Given the description of an element on the screen output the (x, y) to click on. 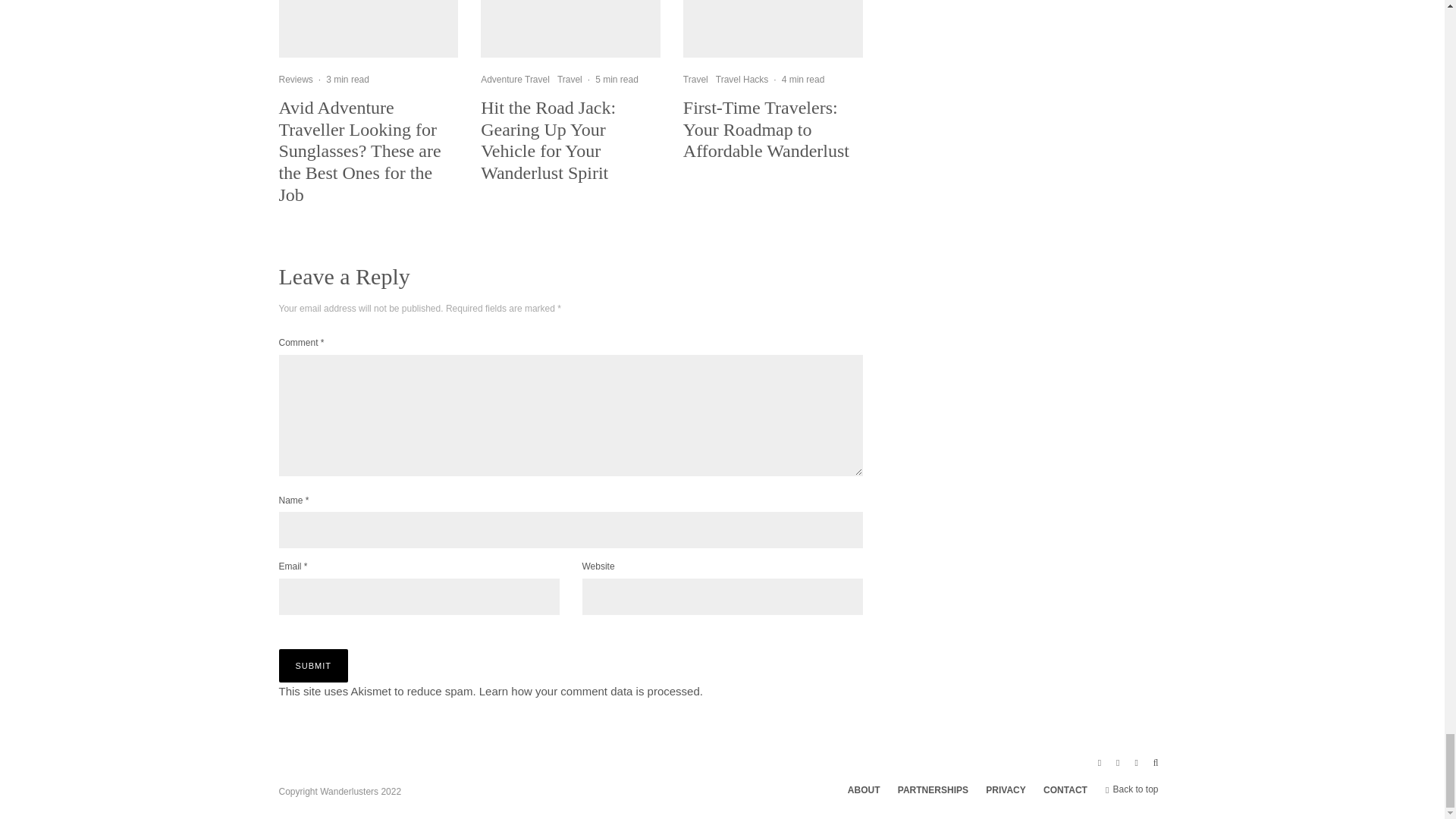
Submit (314, 665)
